Given the description of an element on the screen output the (x, y) to click on. 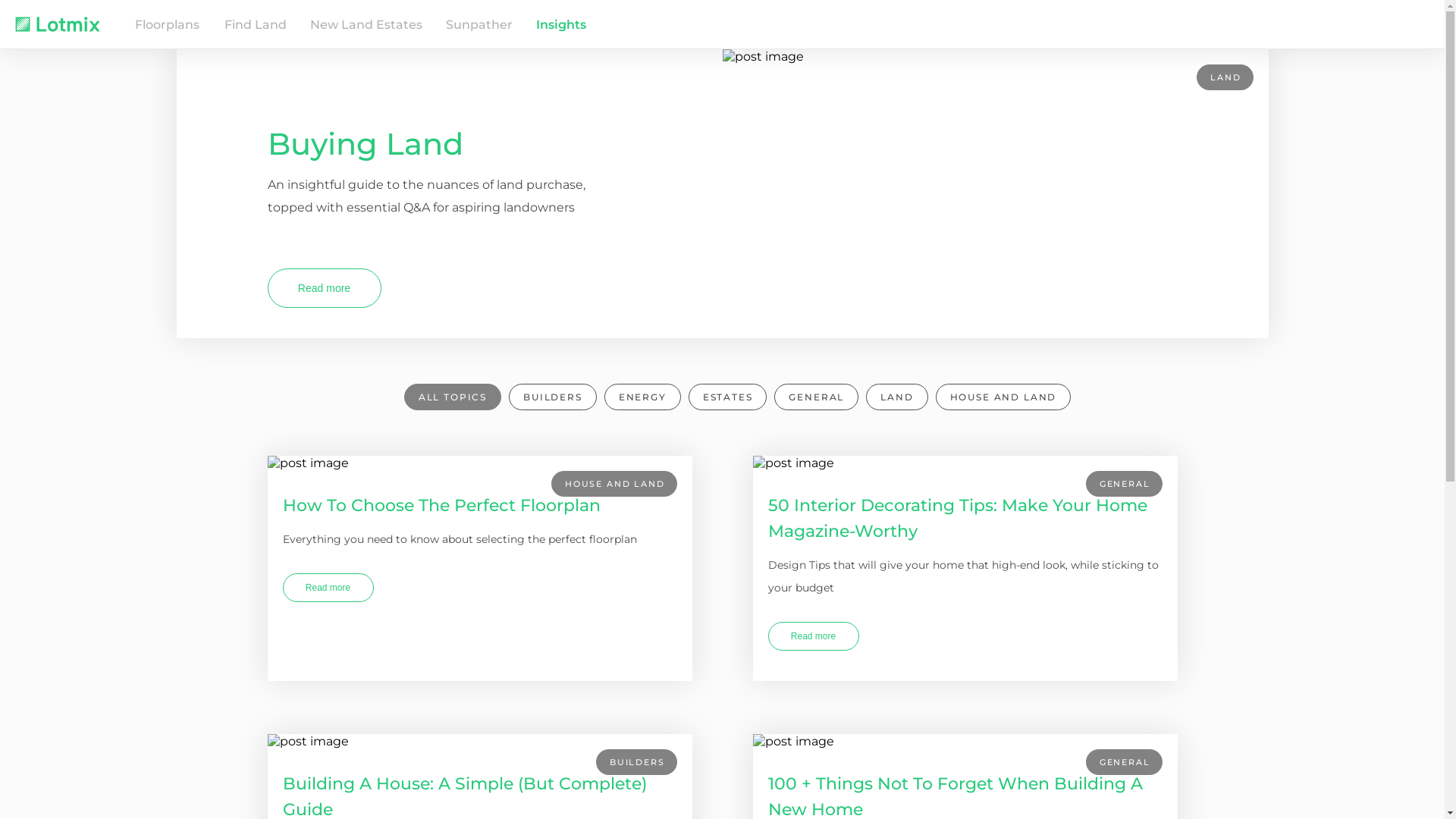
How To Choose The Perfect Floorplan Element type: text (479, 501)
LAND Element type: text (896, 396)
Find Land Element type: text (255, 23)
Read more Element type: text (327, 587)
Insights Element type: text (561, 23)
BUILDERS Element type: text (552, 396)
Lotmix Element type: text (68, 23)
HOUSE AND LAND Element type: text (1003, 396)
Floorplans Element type: text (166, 23)
ESTATES Element type: text (727, 396)
Buying Land Element type: text (364, 143)
New Land Estates Element type: text (366, 23)
50 Interior Decorating Tips: Make Your Home Magazine-Worthy Element type: text (964, 514)
Sunpather Element type: text (478, 23)
Read more Element type: text (323, 287)
GENERAL Element type: text (816, 396)
ALL TOPICS Element type: text (452, 396)
Read more Element type: text (812, 635)
ENERGY Element type: text (642, 396)
